Given the description of an element on the screen output the (x, y) to click on. 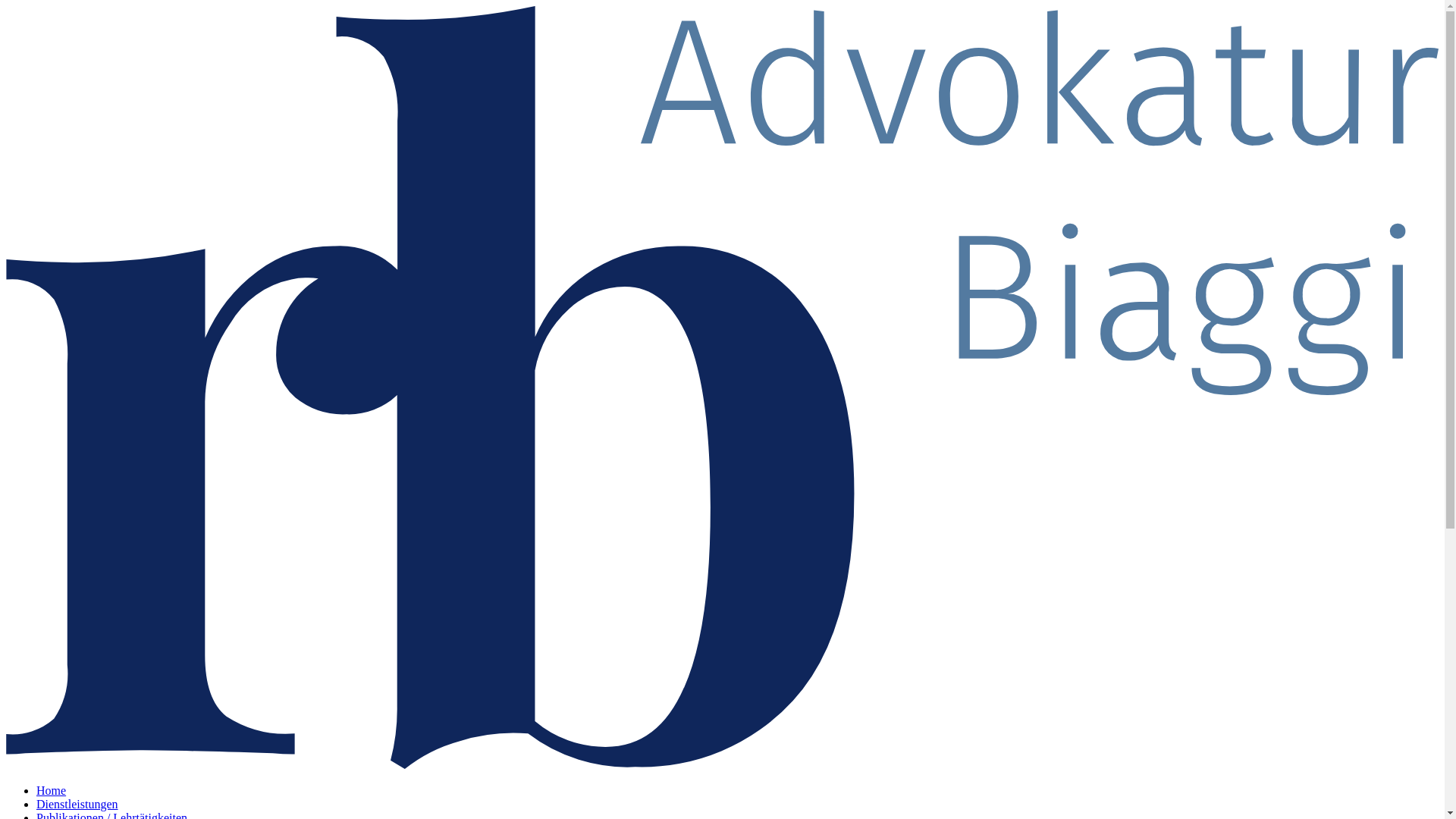
Home Element type: text (50, 790)
  Element type: hover (722, 387)
Dienstleistungen Element type: text (77, 803)
